Given the description of an element on the screen output the (x, y) to click on. 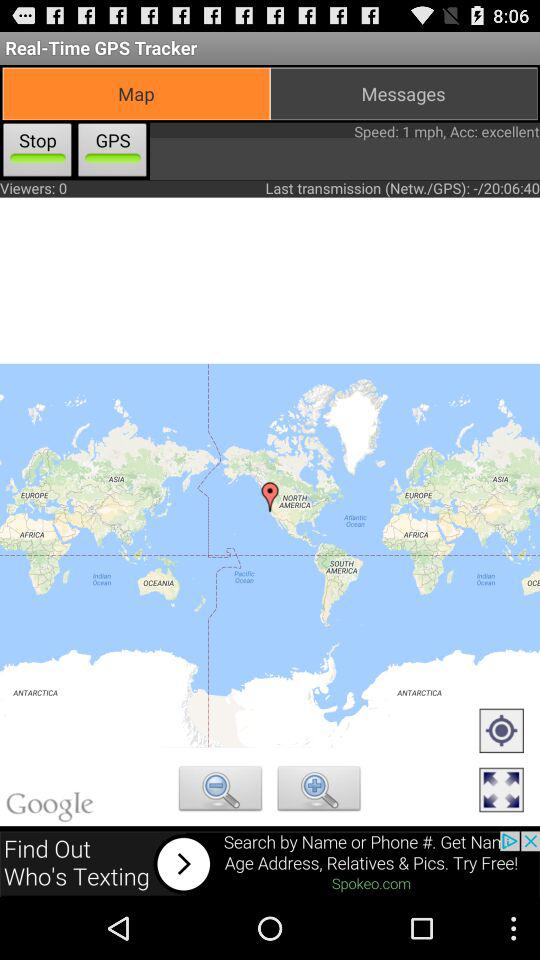
click to search addrress (220, 791)
